Given the description of an element on the screen output the (x, y) to click on. 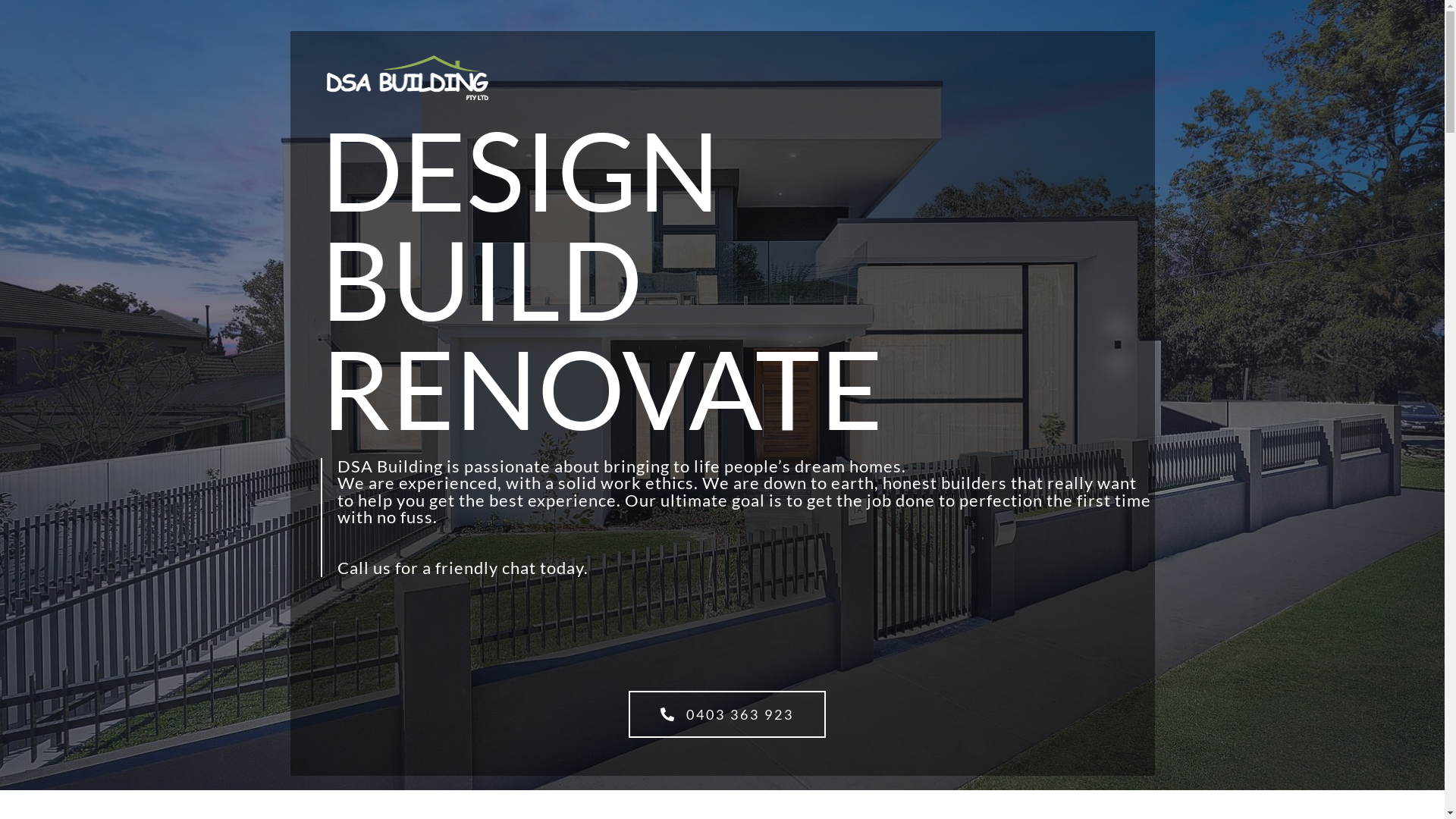
0403 363 923 Element type: text (726, 713)
